Given the description of an element on the screen output the (x, y) to click on. 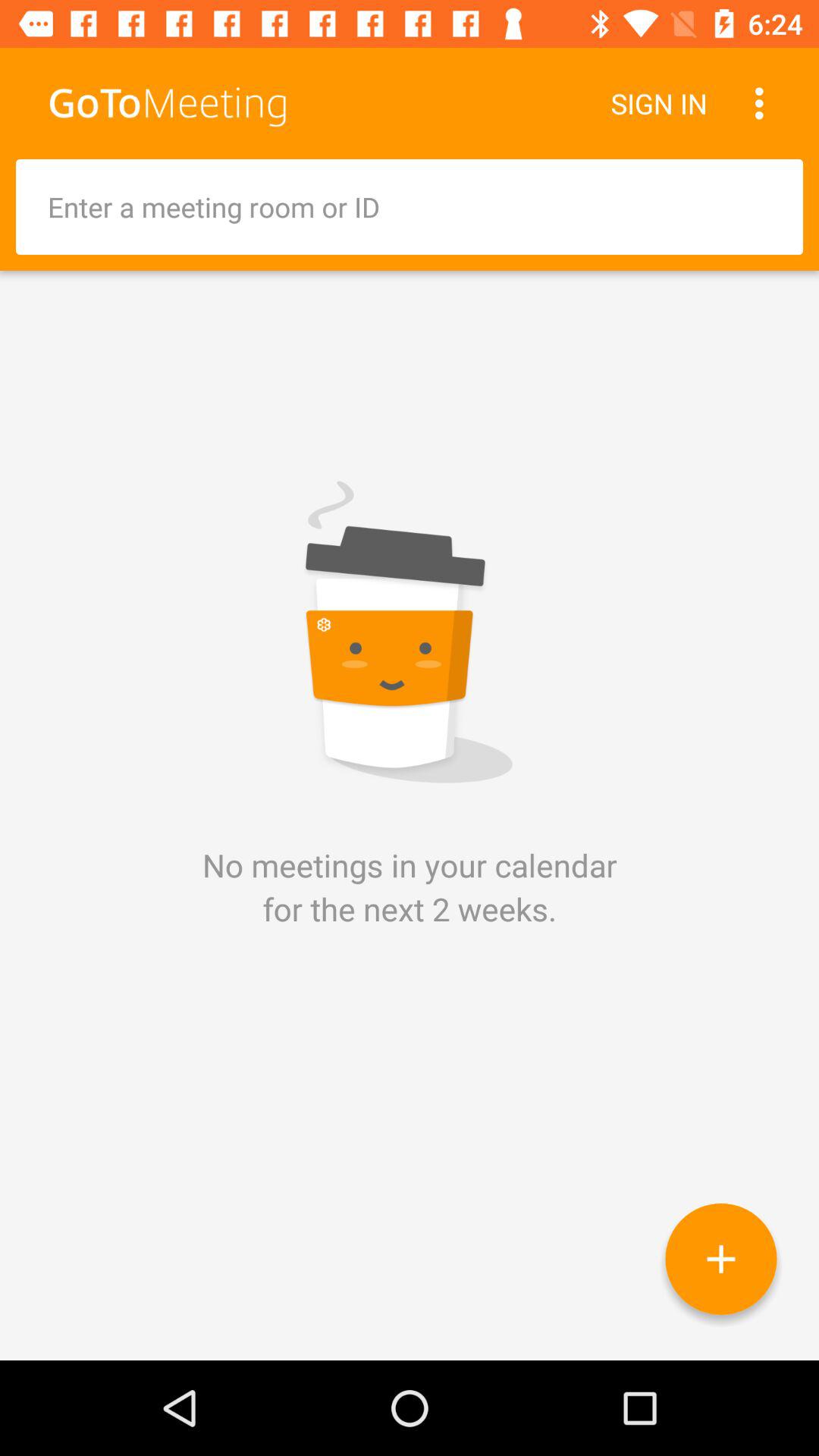
tap item above no meetings in icon (409, 206)
